Given the description of an element on the screen output the (x, y) to click on. 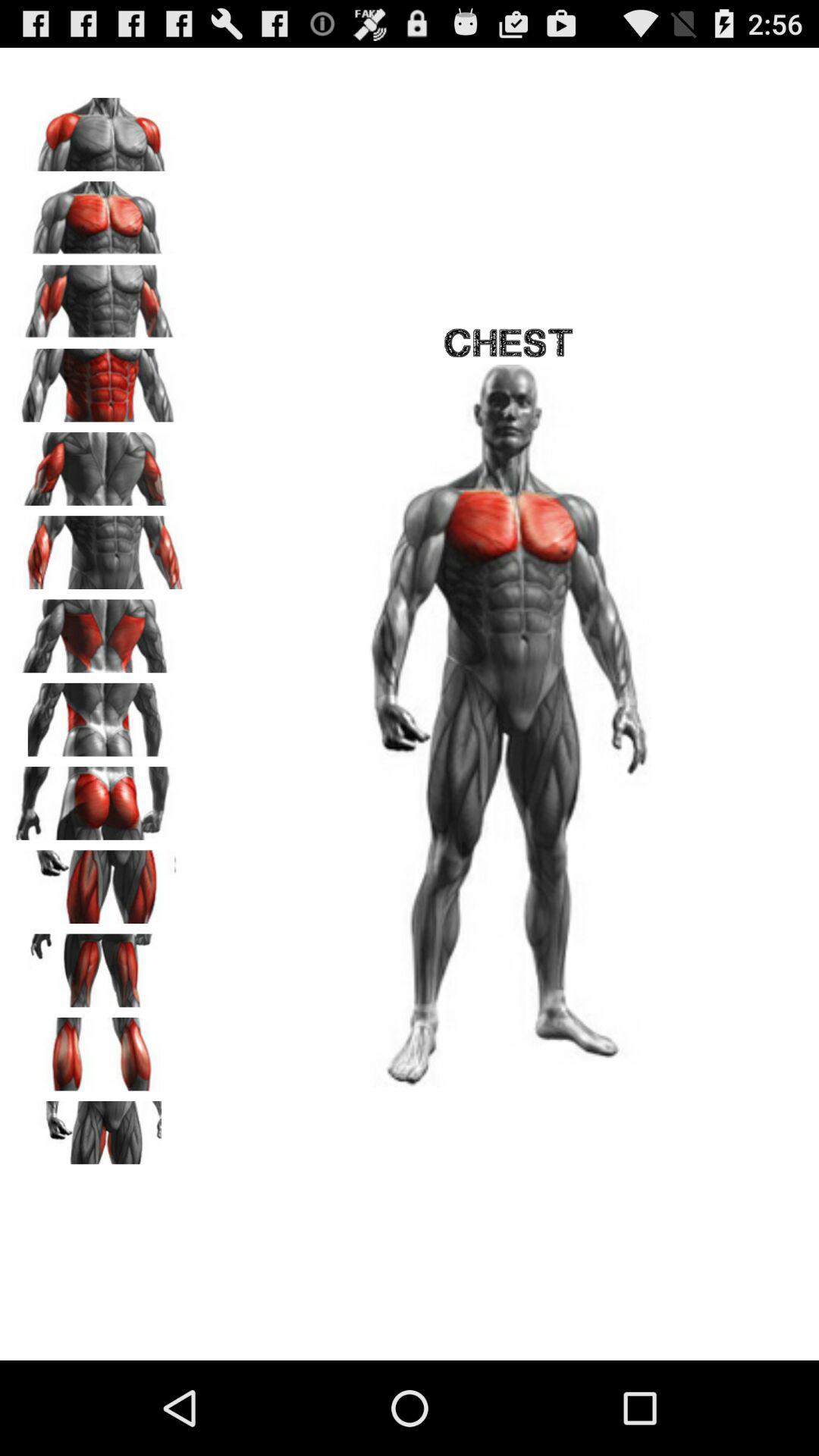
gluteus maximus detail (99, 798)
